Given the description of an element on the screen output the (x, y) to click on. 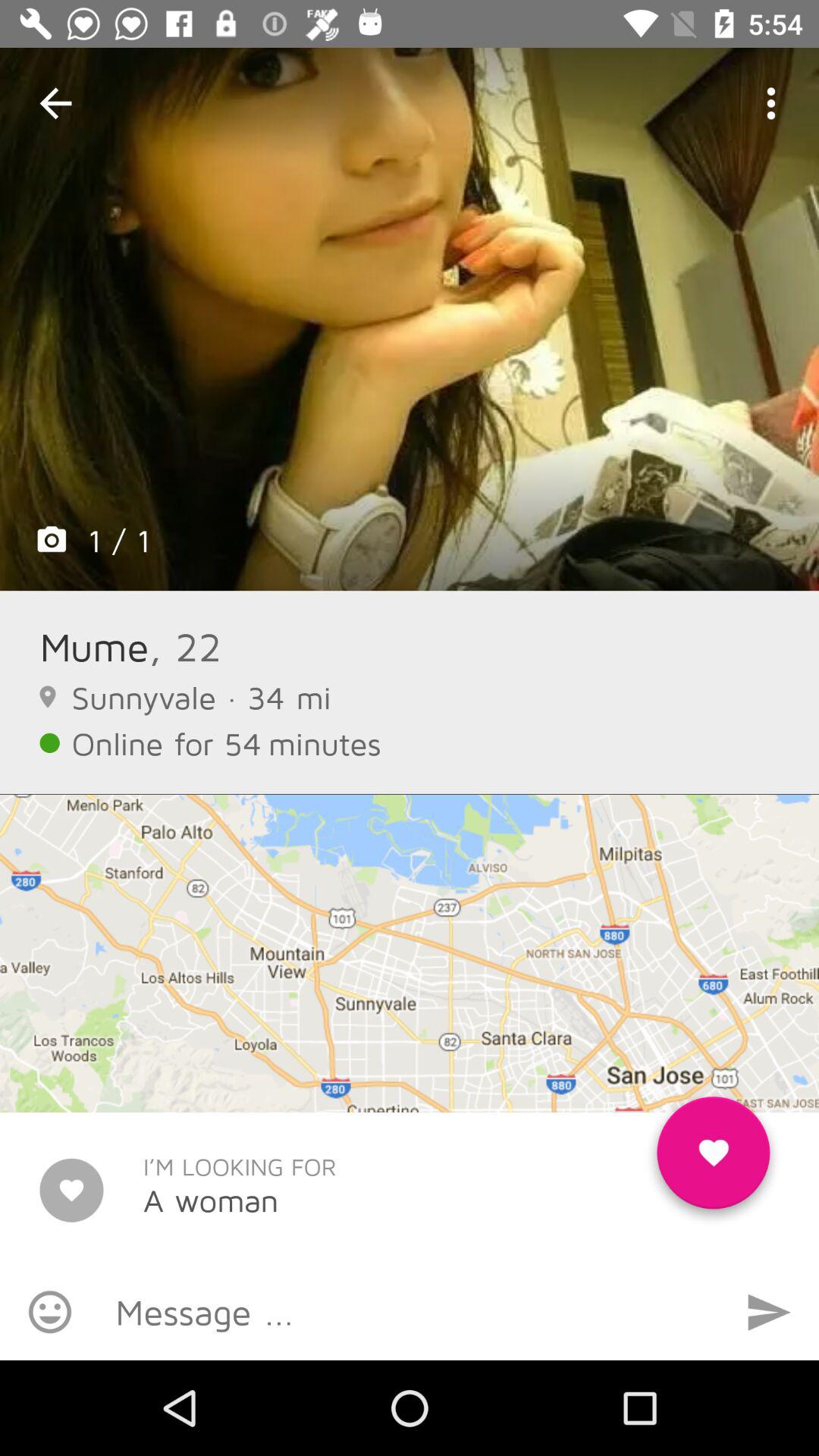
enter a message (409, 1311)
